Given the description of an element on the screen output the (x, y) to click on. 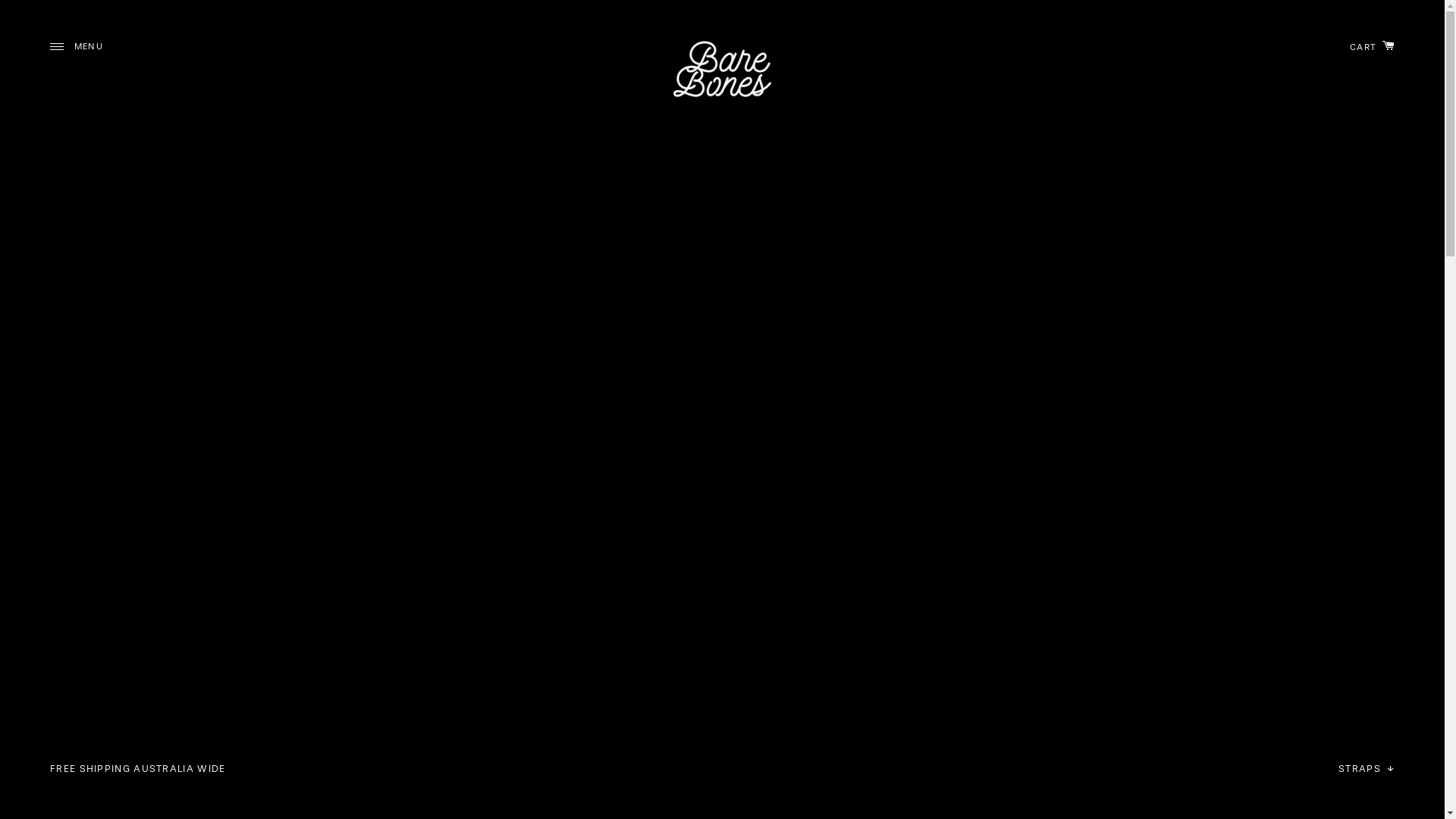
CART Element type: text (1368, 46)
STRAPS Element type: text (1366, 768)
MENU Element type: text (78, 45)
